Given the description of an element on the screen output the (x, y) to click on. 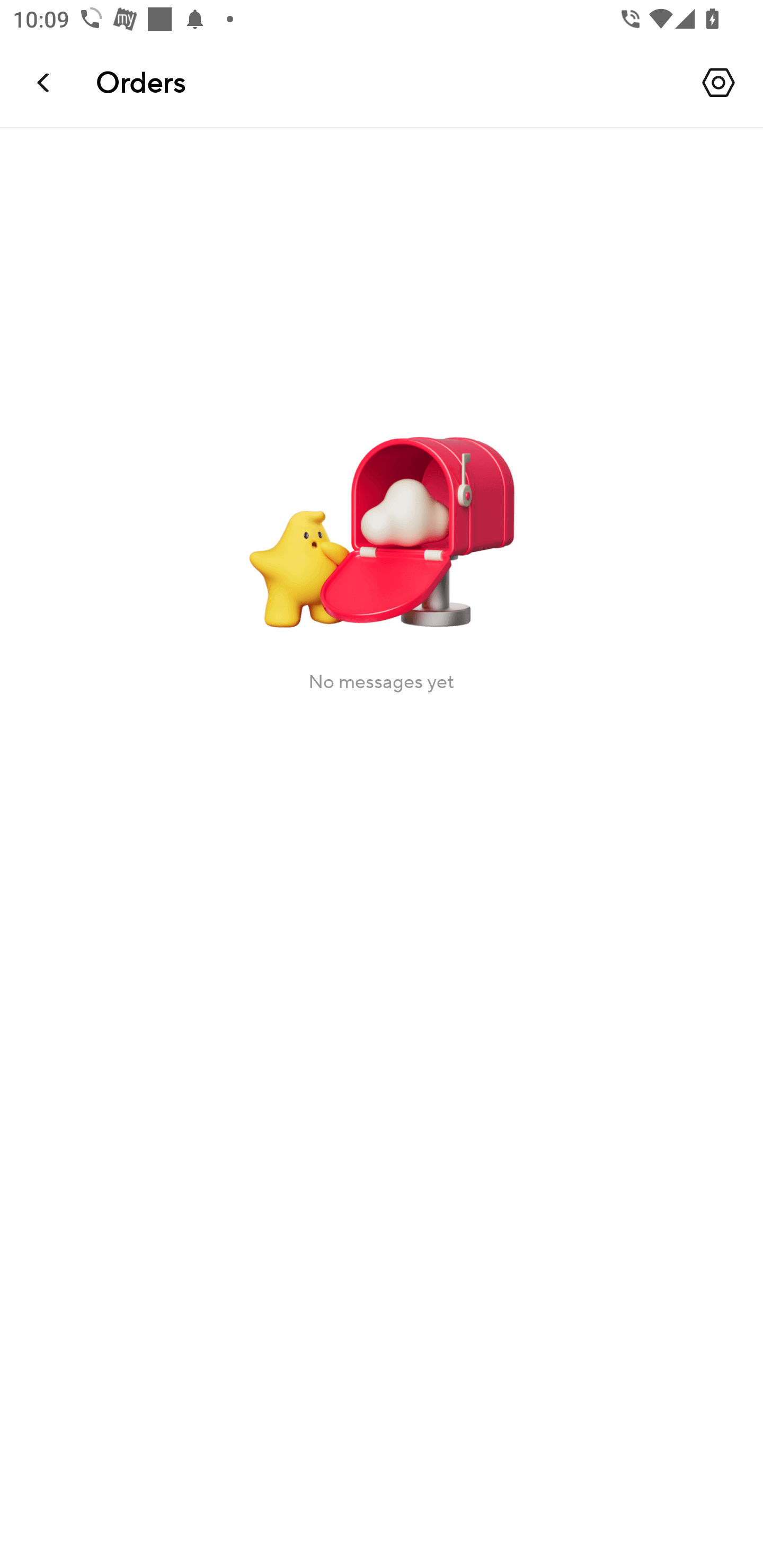
Navigate up (44, 82)
